Given the description of an element on the screen output the (x, y) to click on. 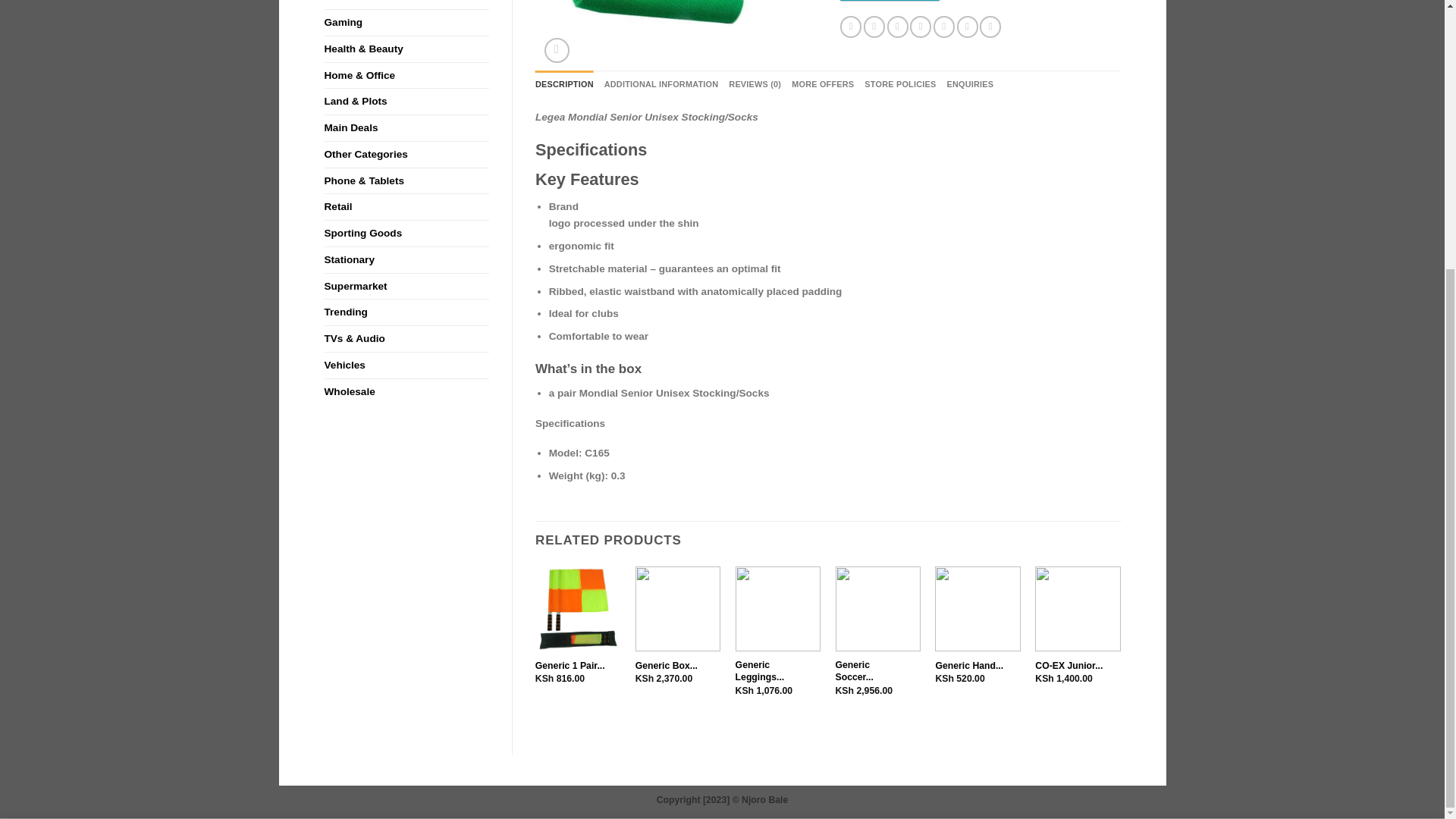
Share on Facebook (850, 26)
Share on Twitter (874, 26)
Zoom (556, 50)
